Given the description of an element on the screen output the (x, y) to click on. 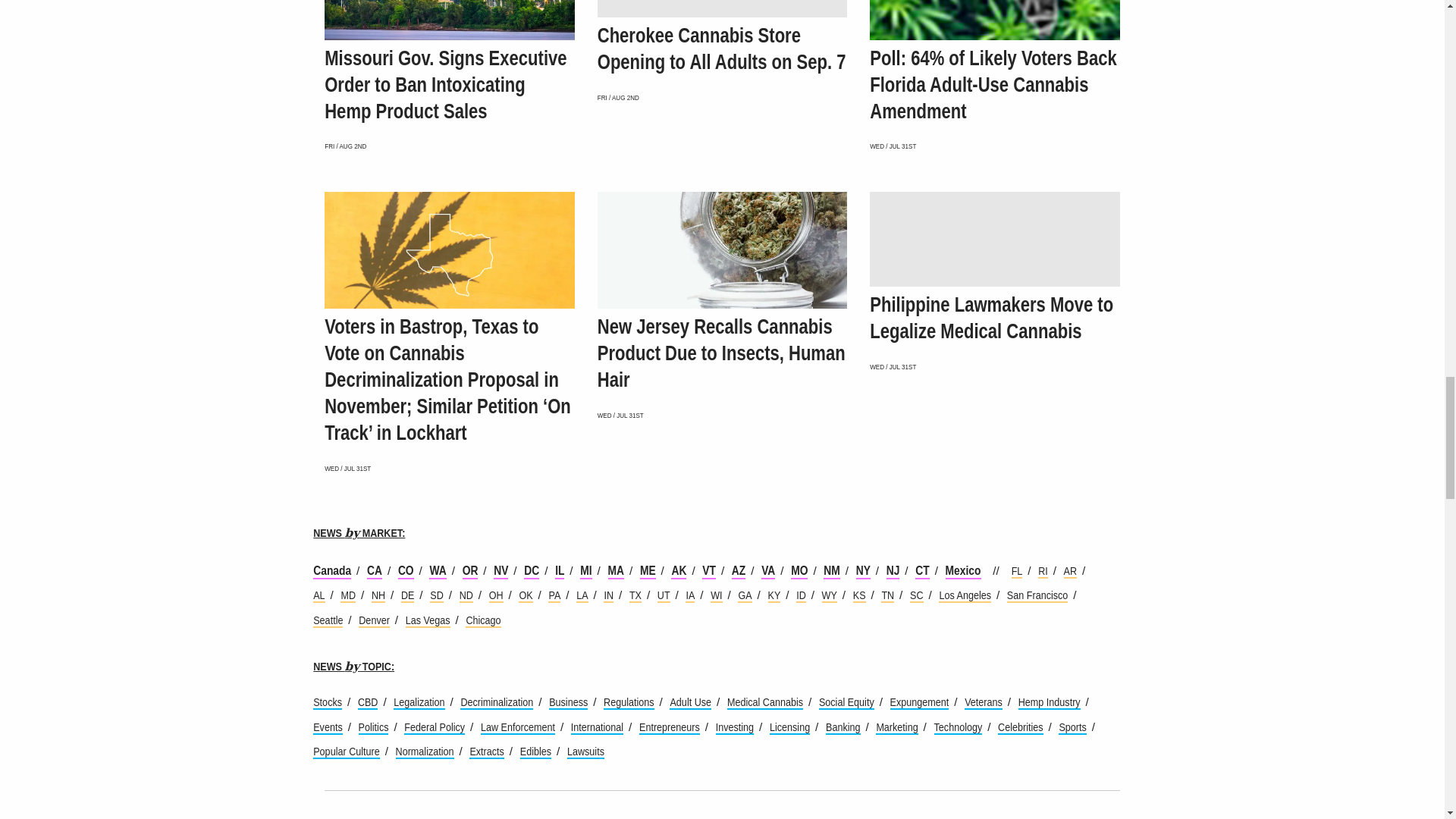
Philippine Lawmakers Move to Legalize Medical Cannabis (991, 317)
Read news (721, 248)
Philippine Lawmakers Move to Legalize Medical Cannabis (994, 238)
WA (437, 570)
CA (373, 570)
Canada (331, 570)
